Given the description of an element on the screen output the (x, y) to click on. 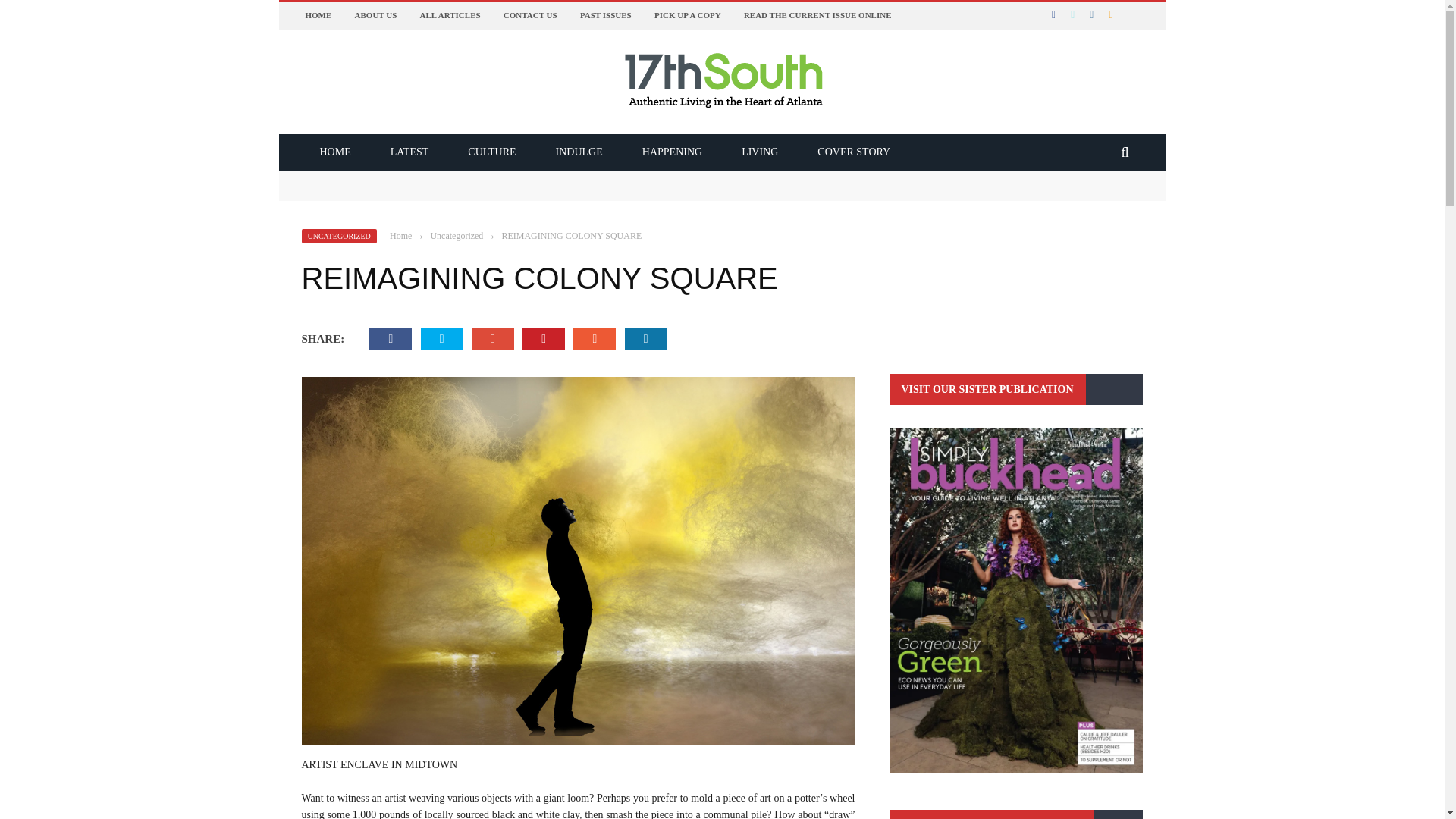
ABOUT US (376, 14)
HOME (317, 14)
LATEST (409, 152)
ALL ARTICLES (450, 14)
PICK UP A COPY (686, 14)
READ THE CURRENT ISSUE ONLINE (817, 14)
HOME (335, 152)
PAST ISSUES (605, 14)
CONTACT US (530, 14)
